Given the description of an element on the screen output the (x, y) to click on. 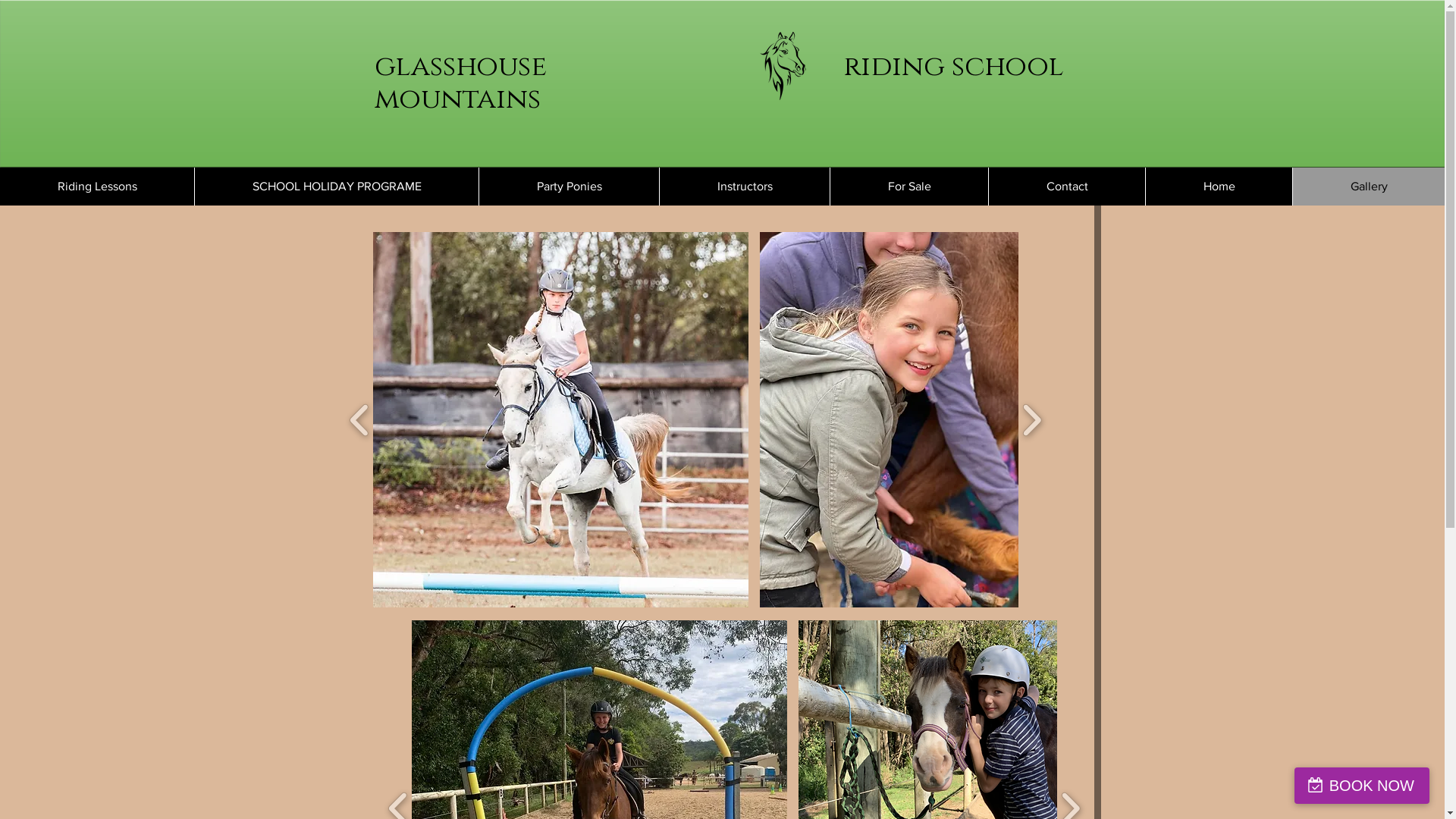
For Sale Element type: text (908, 186)
Horse Head Glasshouse Mountains Transparent.png Element type: hover (782, 65)
Gallery Element type: text (1368, 186)
Contact Element type: text (1066, 186)
Party Ponies Element type: text (568, 186)
Riding Lessons Element type: text (97, 186)
Home Element type: text (1218, 186)
BOOK NOW Element type: text (1361, 785)
Instructors Element type: text (743, 186)
